Given the description of an element on the screen output the (x, y) to click on. 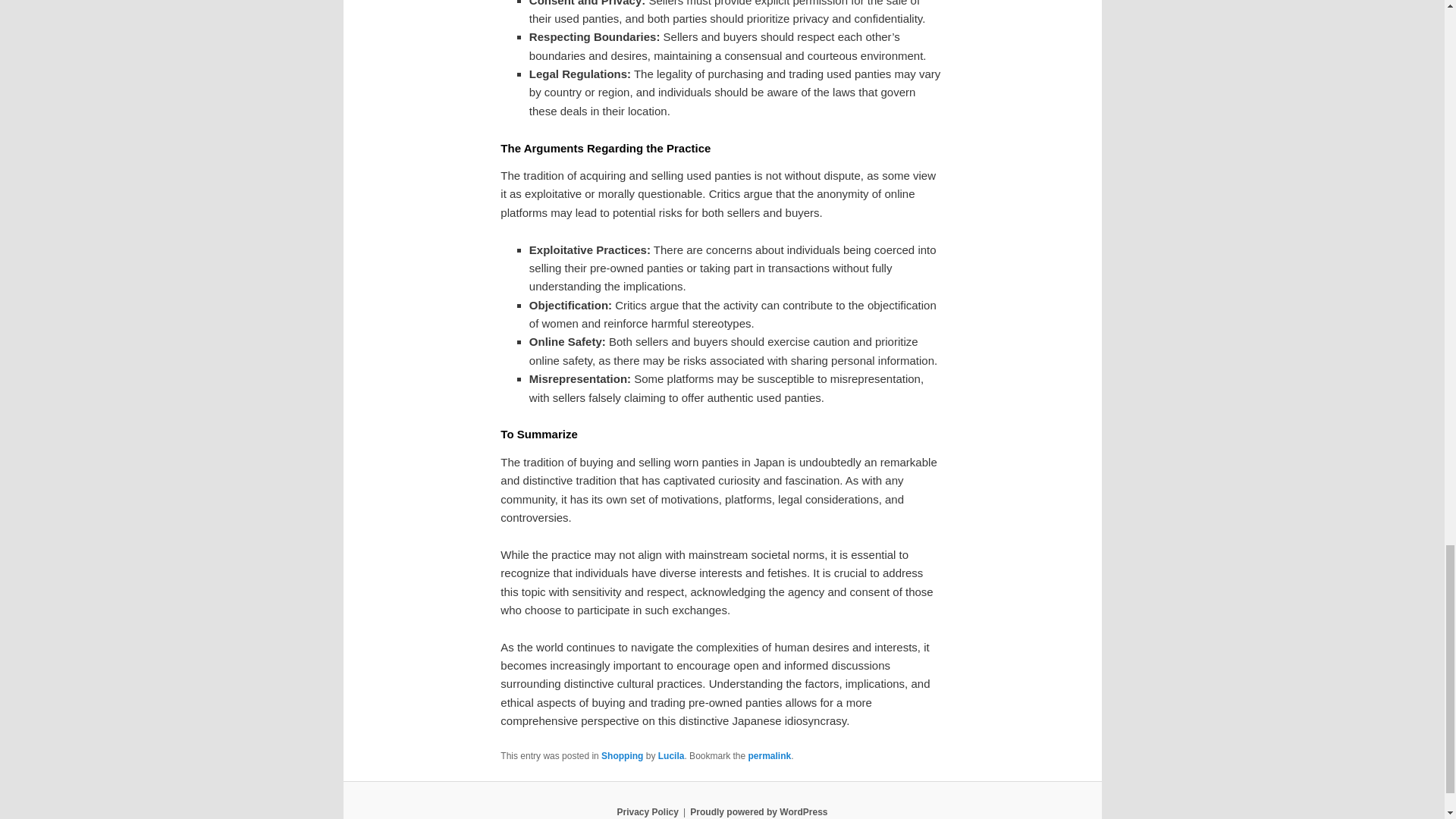
Proudly powered by WordPress (758, 811)
permalink (769, 756)
Shopping (622, 756)
Lucila (671, 756)
Semantic Personal Publishing Platform (758, 811)
Privacy Policy (646, 811)
